Given the description of an element on the screen output the (x, y) to click on. 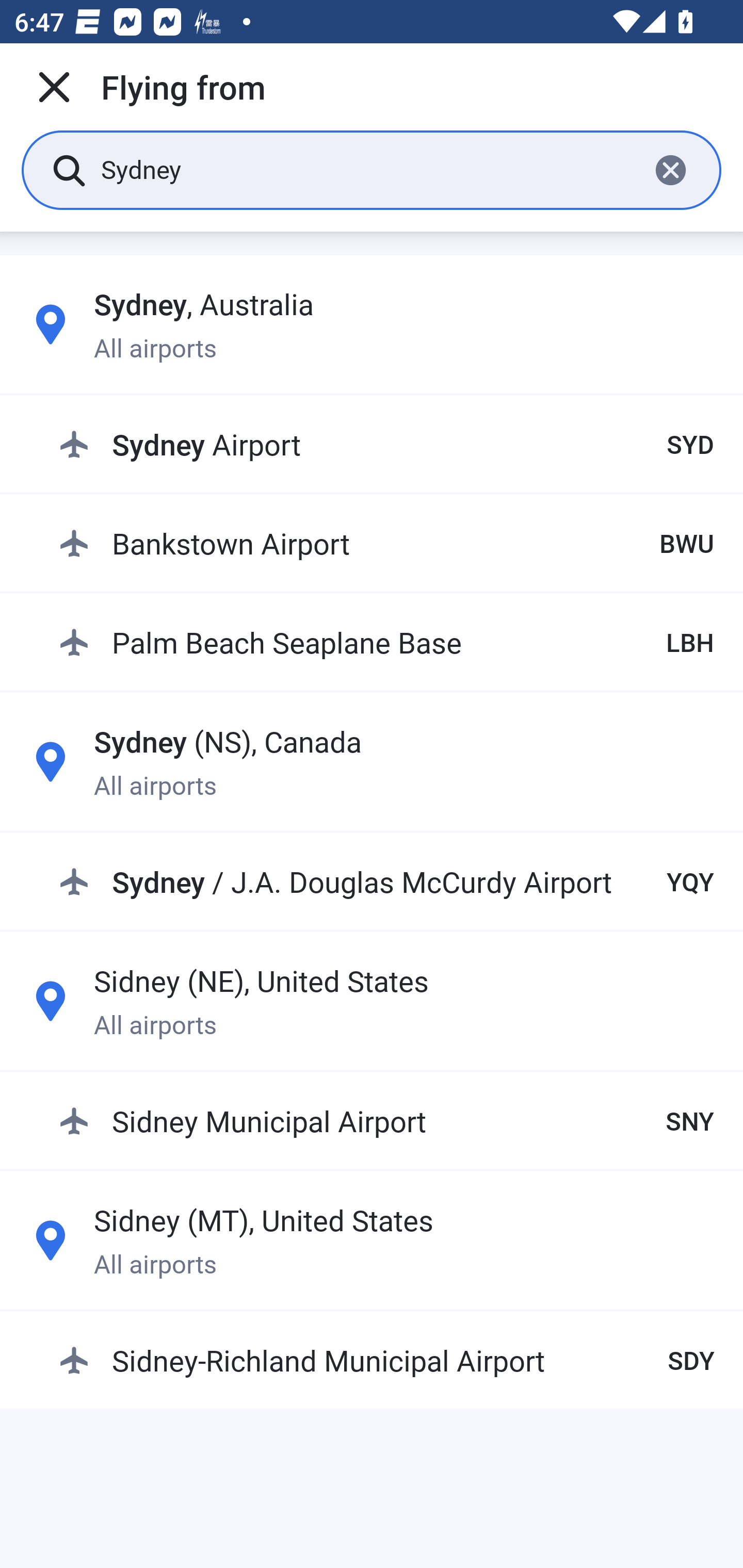
Sydney (367, 169)
Sydney, Australia All airports (371, 324)
Sydney Airport SYD (385, 444)
Bankstown Airport BWU (385, 543)
Palm Beach Seaplane Base LBH (385, 641)
Sydney (NS), Canada All airports (371, 761)
Sydney / J.A. Douglas McCurdy Airport YQY (385, 881)
Sidney (NE), United States All airports (371, 1001)
Sidney Municipal Airport SNY (385, 1120)
Sidney (MT), United States All airports (371, 1240)
Sidney-Richland Municipal Airport SDY (385, 1360)
